Given the description of an element on the screen output the (x, y) to click on. 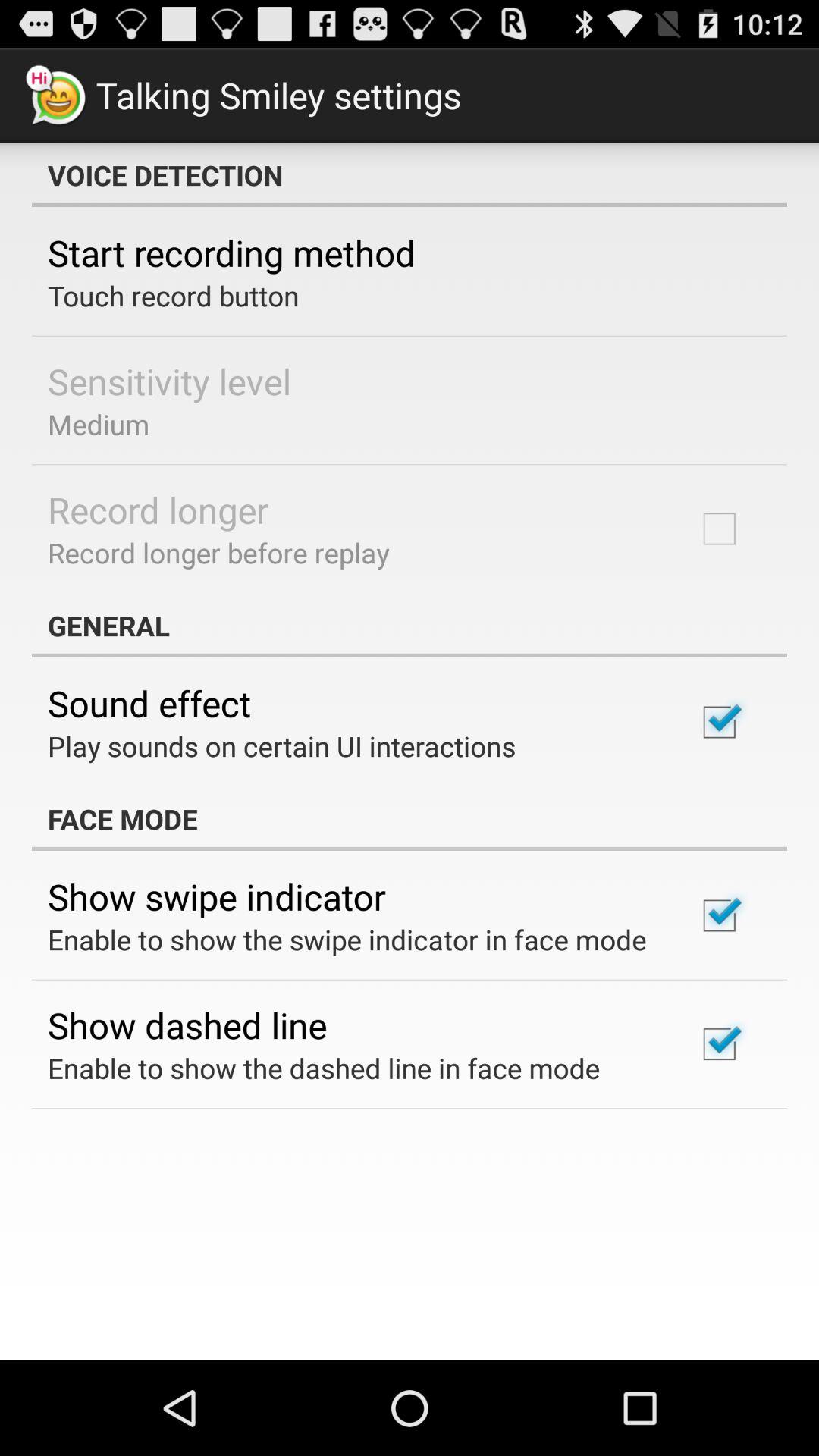
click icon below sensitivity level app (98, 424)
